Given the description of an element on the screen output the (x, y) to click on. 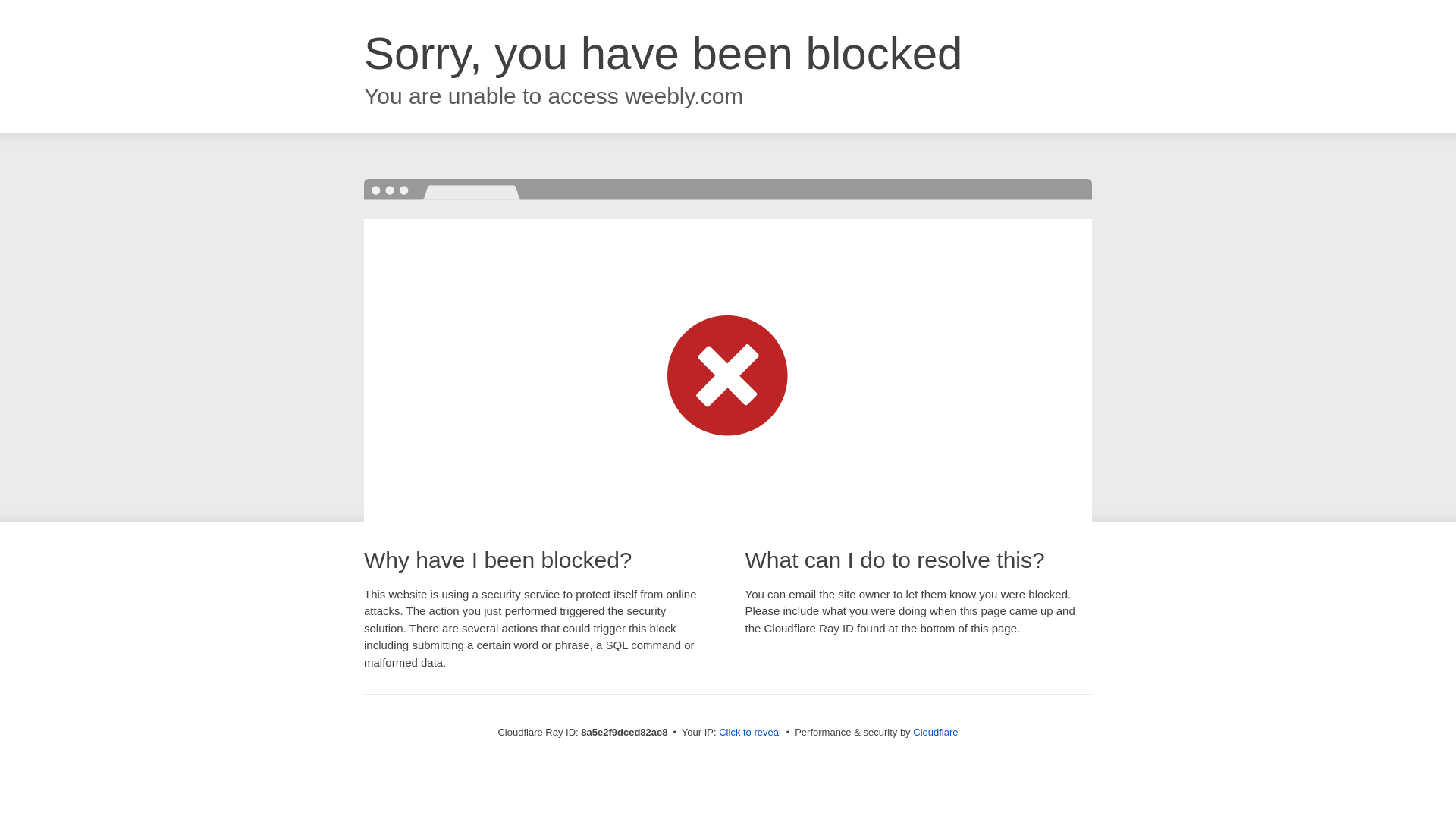
Cloudflare (935, 731)
Click to reveal (749, 732)
